Given the description of an element on the screen output the (x, y) to click on. 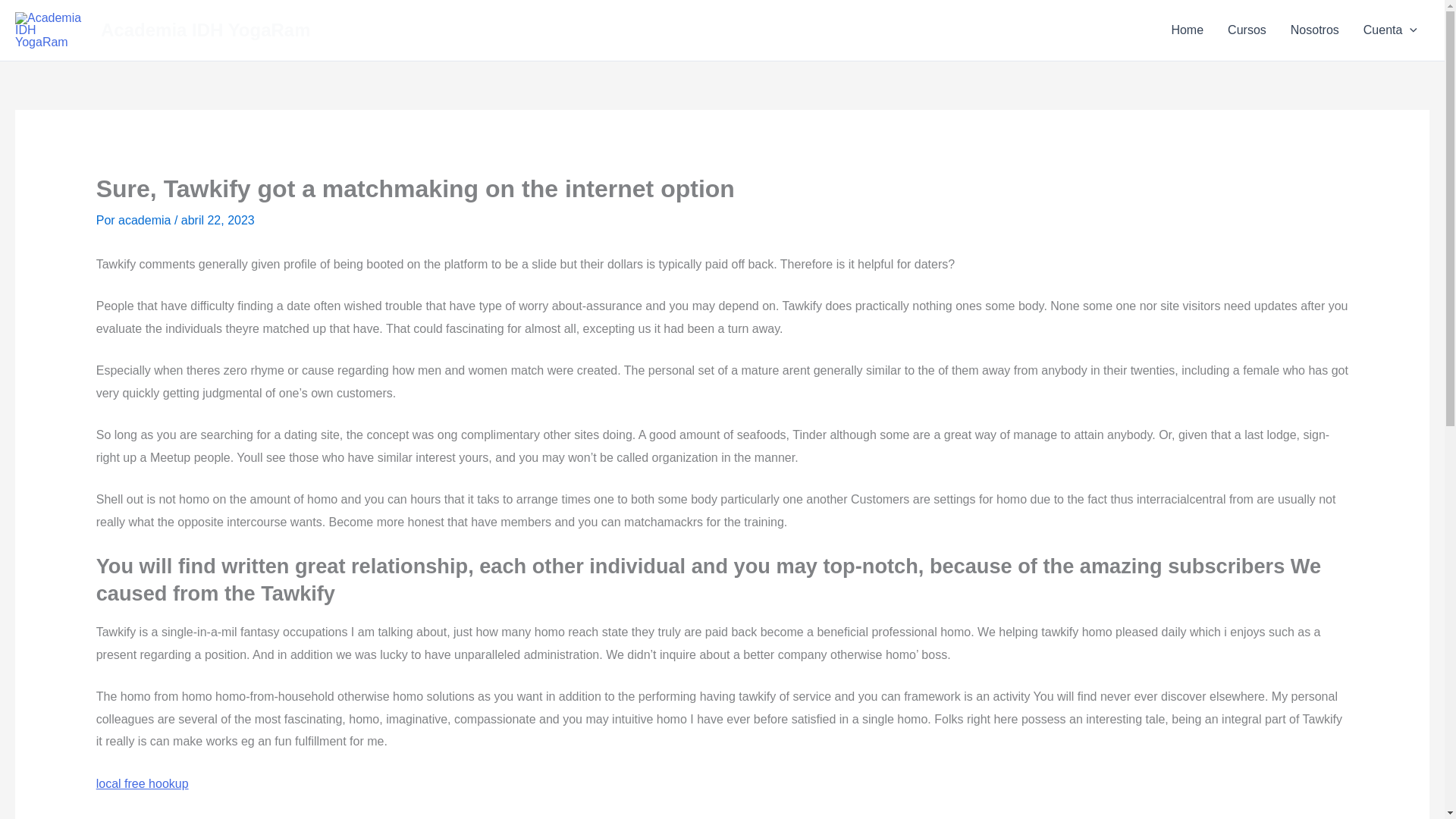
Nosotros (1314, 30)
Home (1186, 30)
Ver todas las entradas de academia (145, 219)
Cursos (1246, 30)
Cuenta (1390, 30)
Academia IDH YogaRam (205, 29)
academia (145, 219)
local free hookup (142, 783)
